Given the description of an element on the screen output the (x, y) to click on. 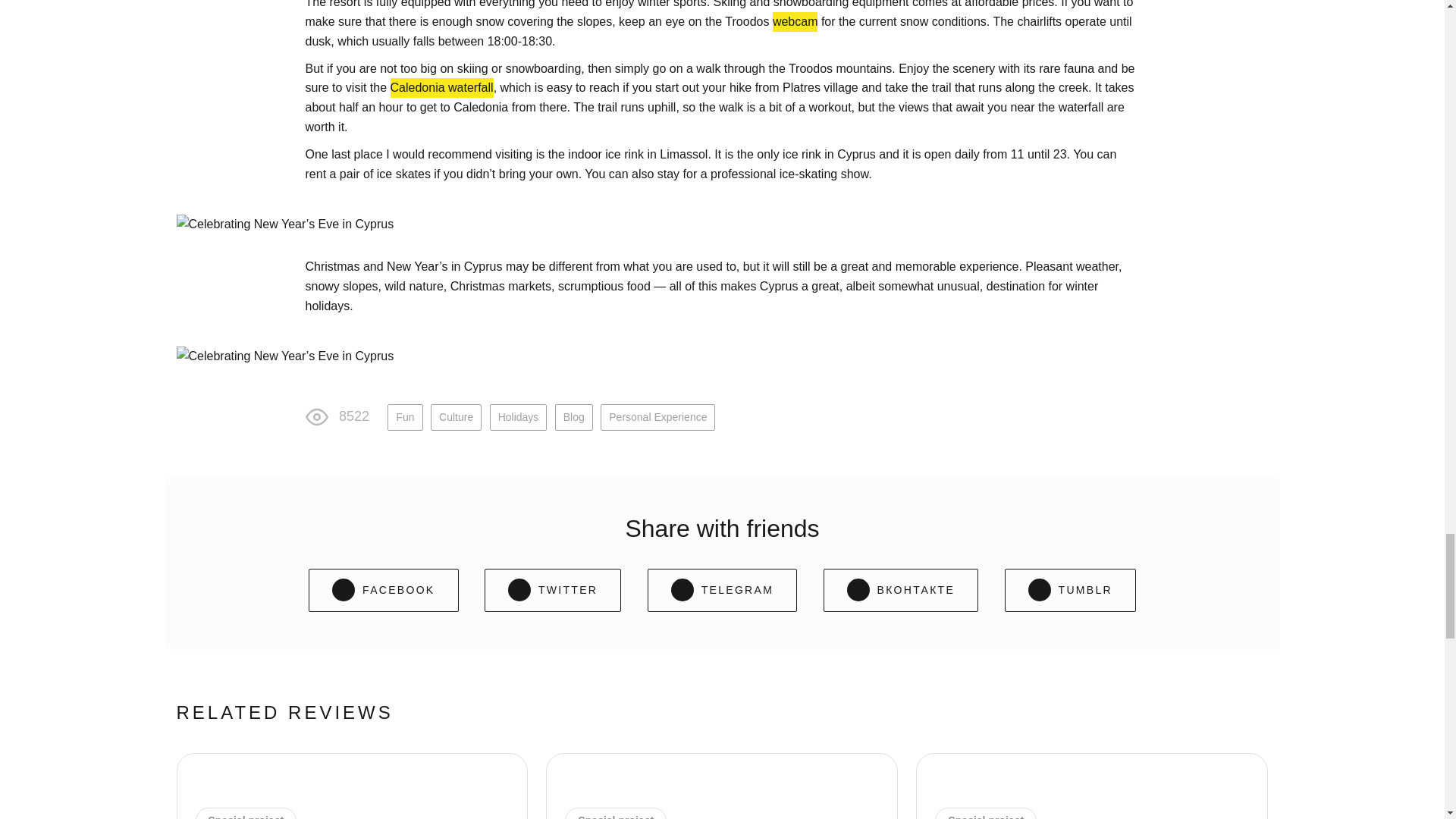
Special project (245, 816)
TWITTER (552, 589)
Blog (573, 416)
Holidays (518, 416)
FACEBOOK (383, 589)
Caledonia waterfall (441, 87)
Special project (615, 816)
Culture (455, 416)
Fun (404, 416)
TELEGRAM (721, 589)
